Given the description of an element on the screen output the (x, y) to click on. 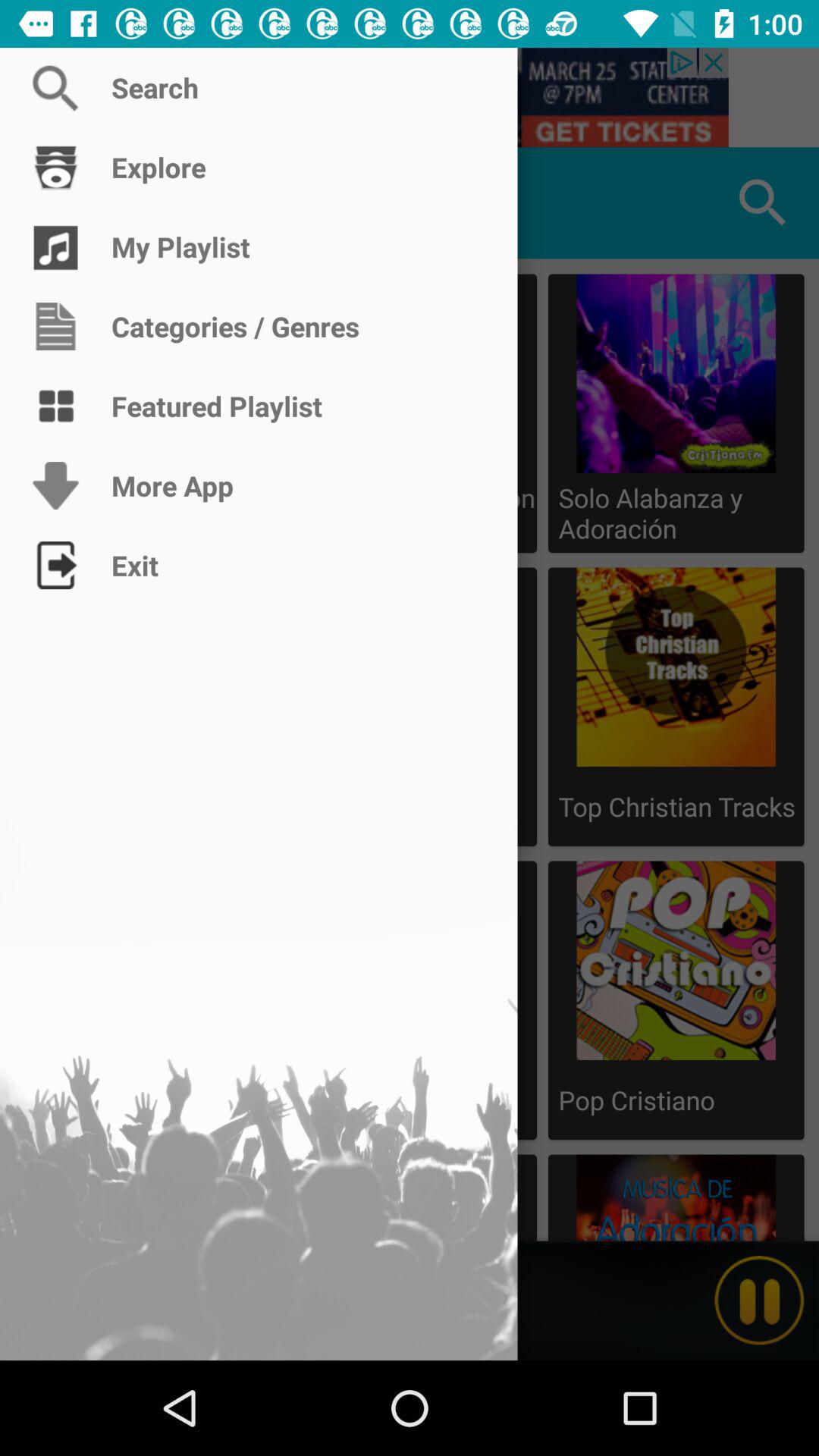
click on second image from search buttontop (675, 706)
